Given the description of an element on the screen output the (x, y) to click on. 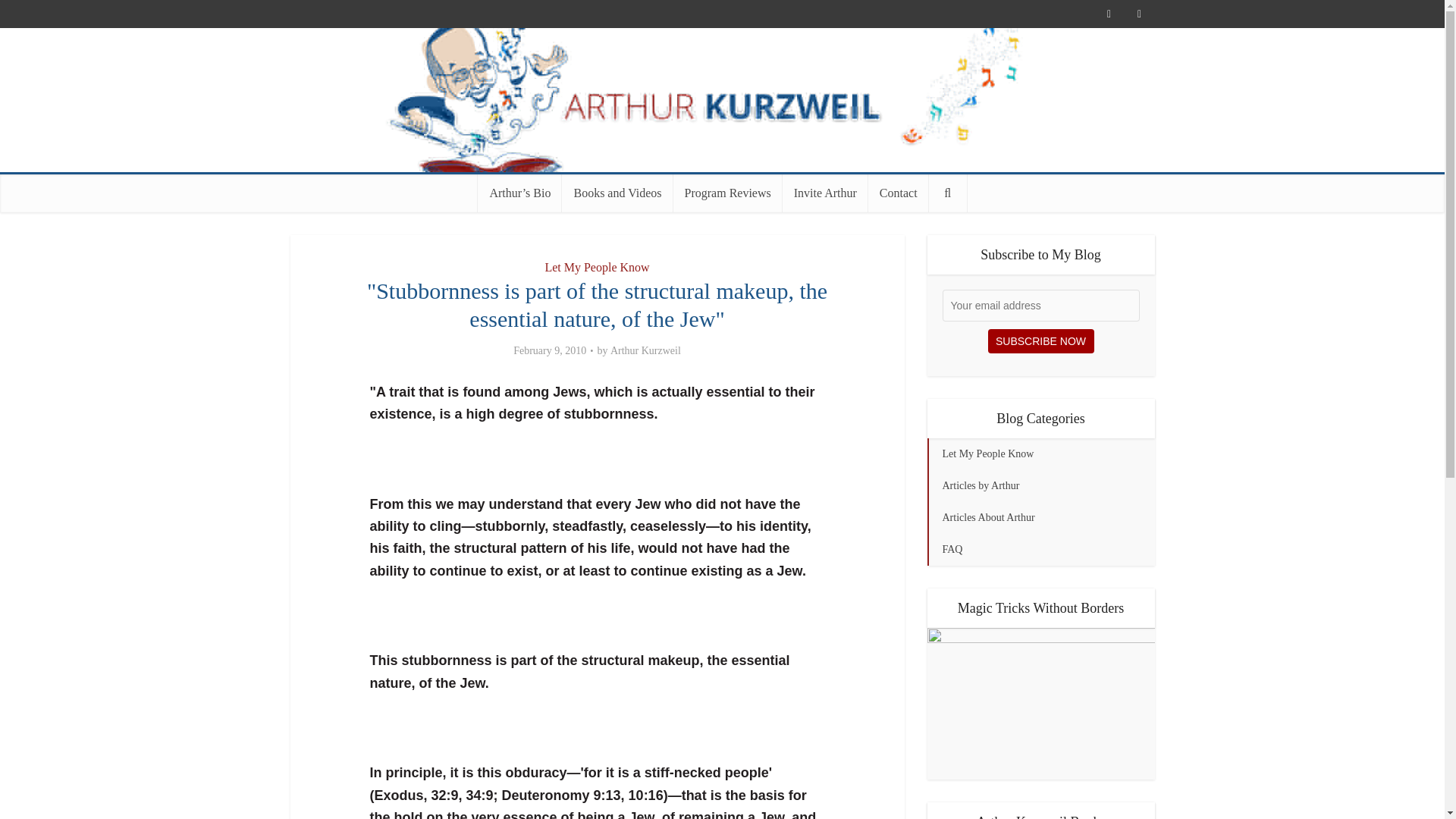
Let My People Know (1040, 454)
Articles About Arthur (1040, 517)
Books and Videos (617, 193)
Invite Arthur (825, 193)
Arthur Kurzweil (721, 99)
Articles by Arthur (1040, 486)
Let My People Know (596, 267)
Program Reviews (727, 193)
Contact (897, 193)
SUBSCRIBE NOW (1040, 340)
